Given the description of an element on the screen output the (x, y) to click on. 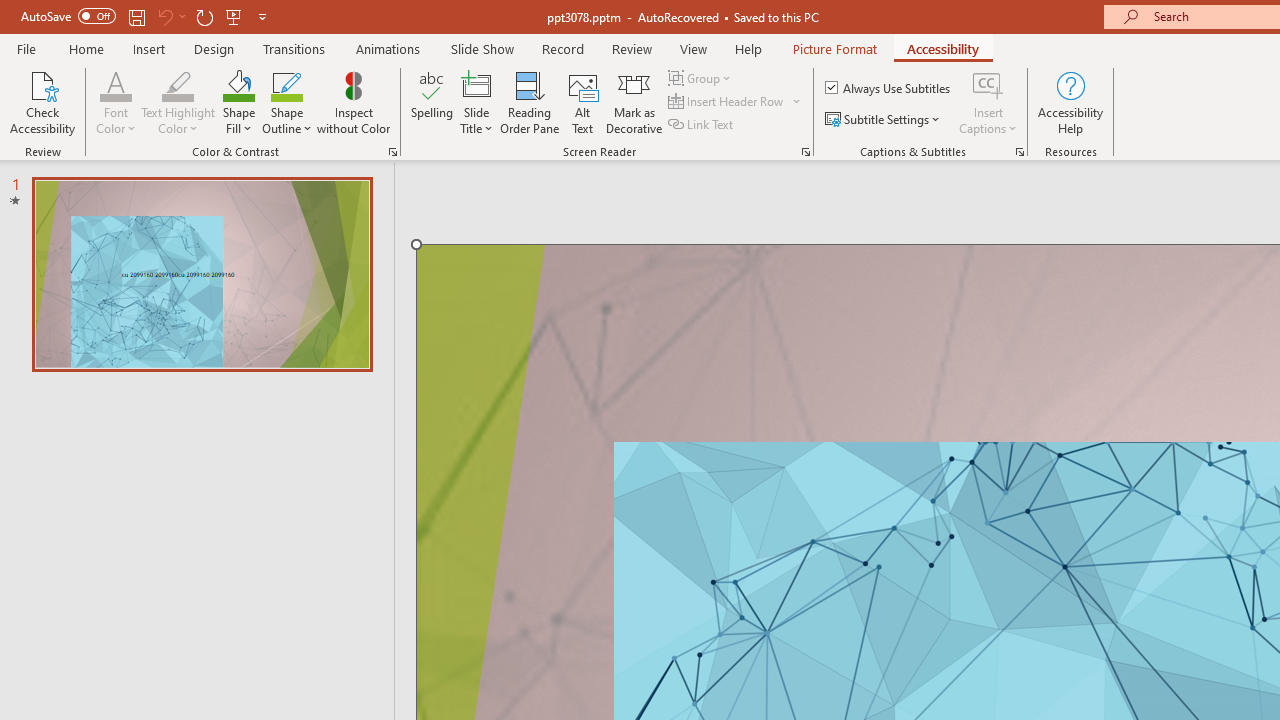
Always Use Subtitles (889, 87)
Subtitle Settings (884, 119)
